Given the description of an element on the screen output the (x, y) to click on. 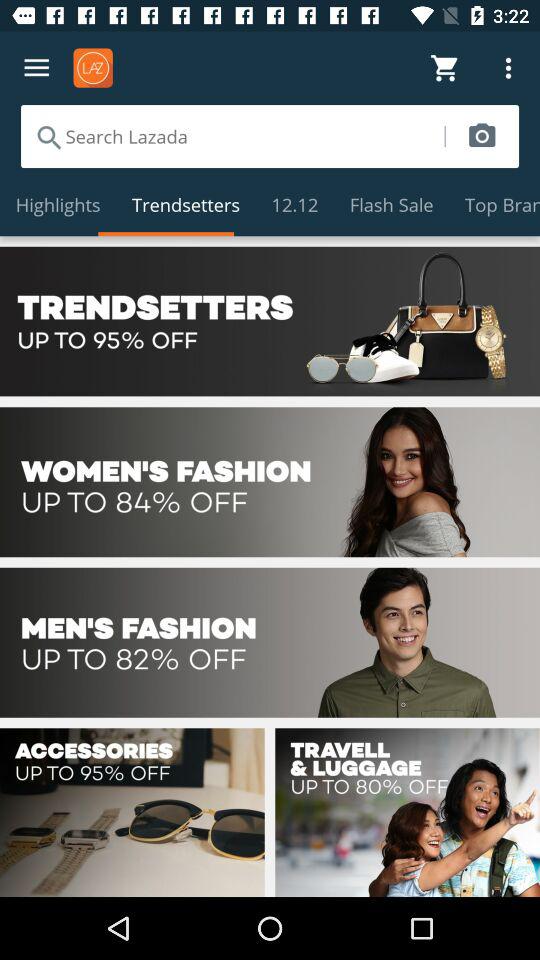
open menu (36, 68)
